Given the description of an element on the screen output the (x, y) to click on. 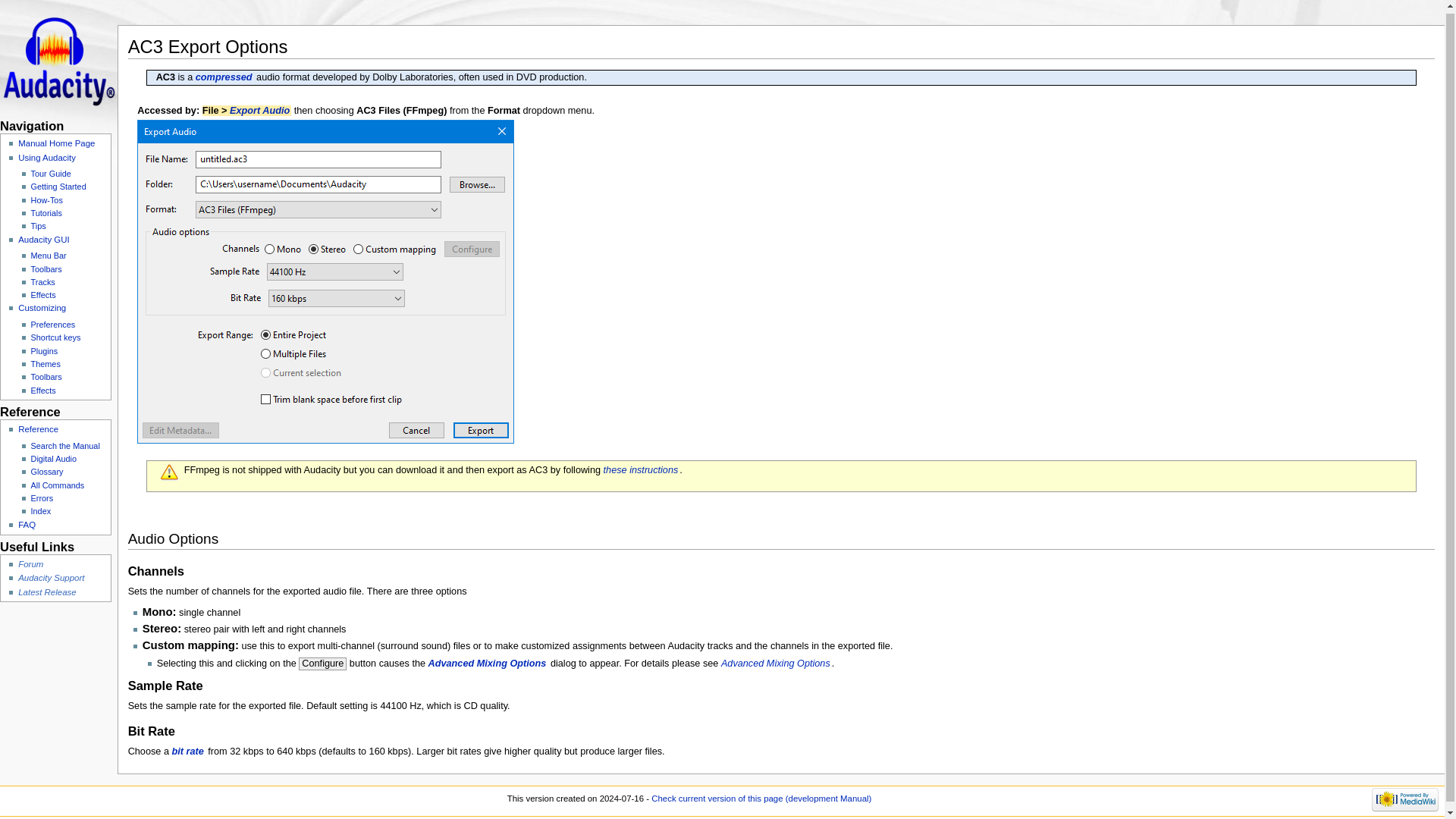
How to use Audacity (46, 157)
Audacity Tour Guide (50, 173)
these instructions (641, 470)
Audacity Support (50, 577)
Audacity GUI (42, 239)
Advanced Mixing Options (775, 663)
Errors (41, 497)
Getting Started (57, 185)
How to use Audacity (46, 199)
compressed (224, 77)
